Given the description of an element on the screen output the (x, y) to click on. 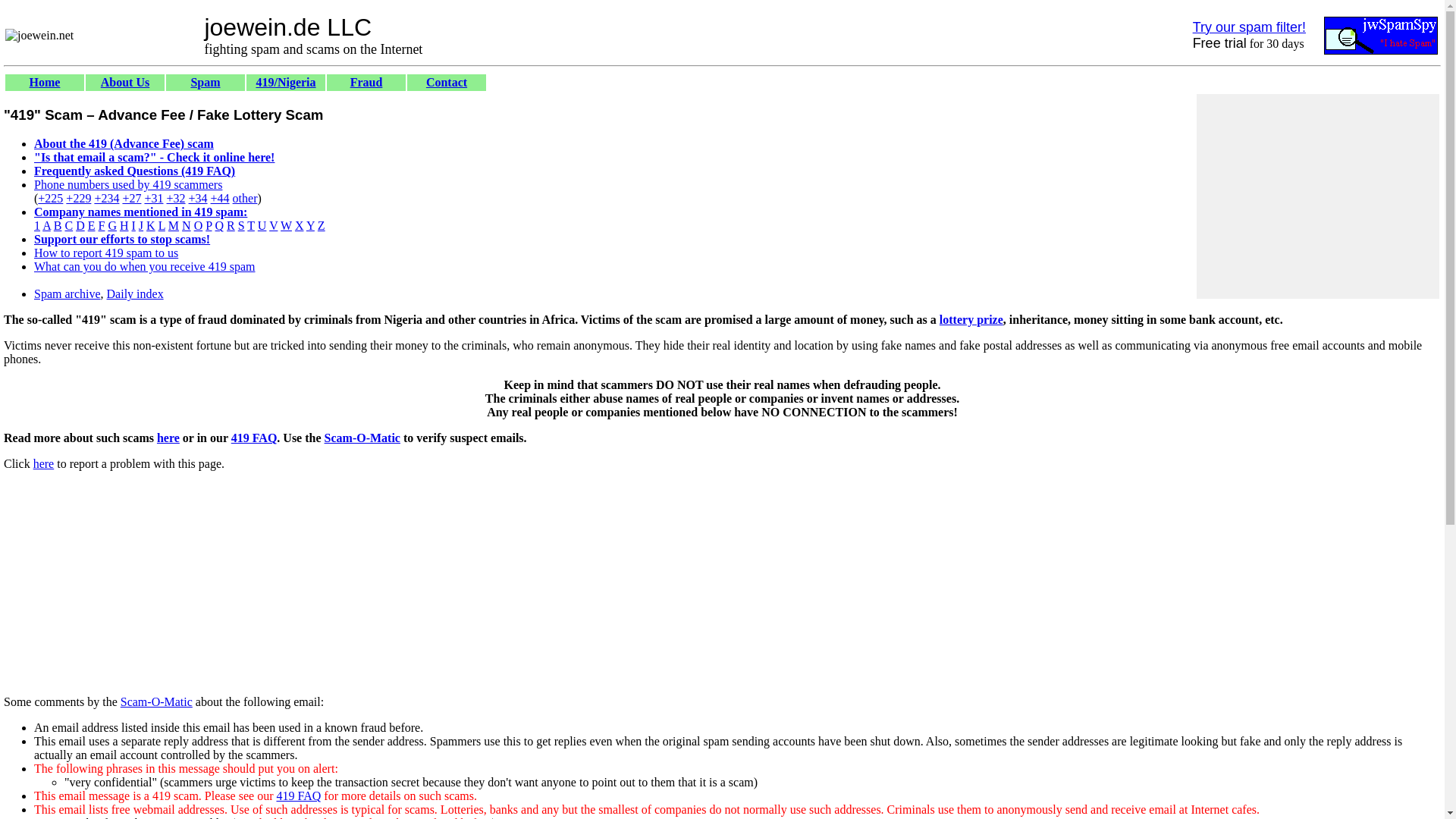
Try our spam filter! (1249, 27)
About Us (124, 82)
Company names mentioned in 419 spam: (140, 211)
Advertisement (280, 622)
Home (45, 82)
other (244, 197)
Contact (446, 82)
Spam (204, 82)
Phone numbers used by 419 scammers (127, 184)
"Is that email a scam?" - Check it online here! (154, 156)
